Given the description of an element on the screen output the (x, y) to click on. 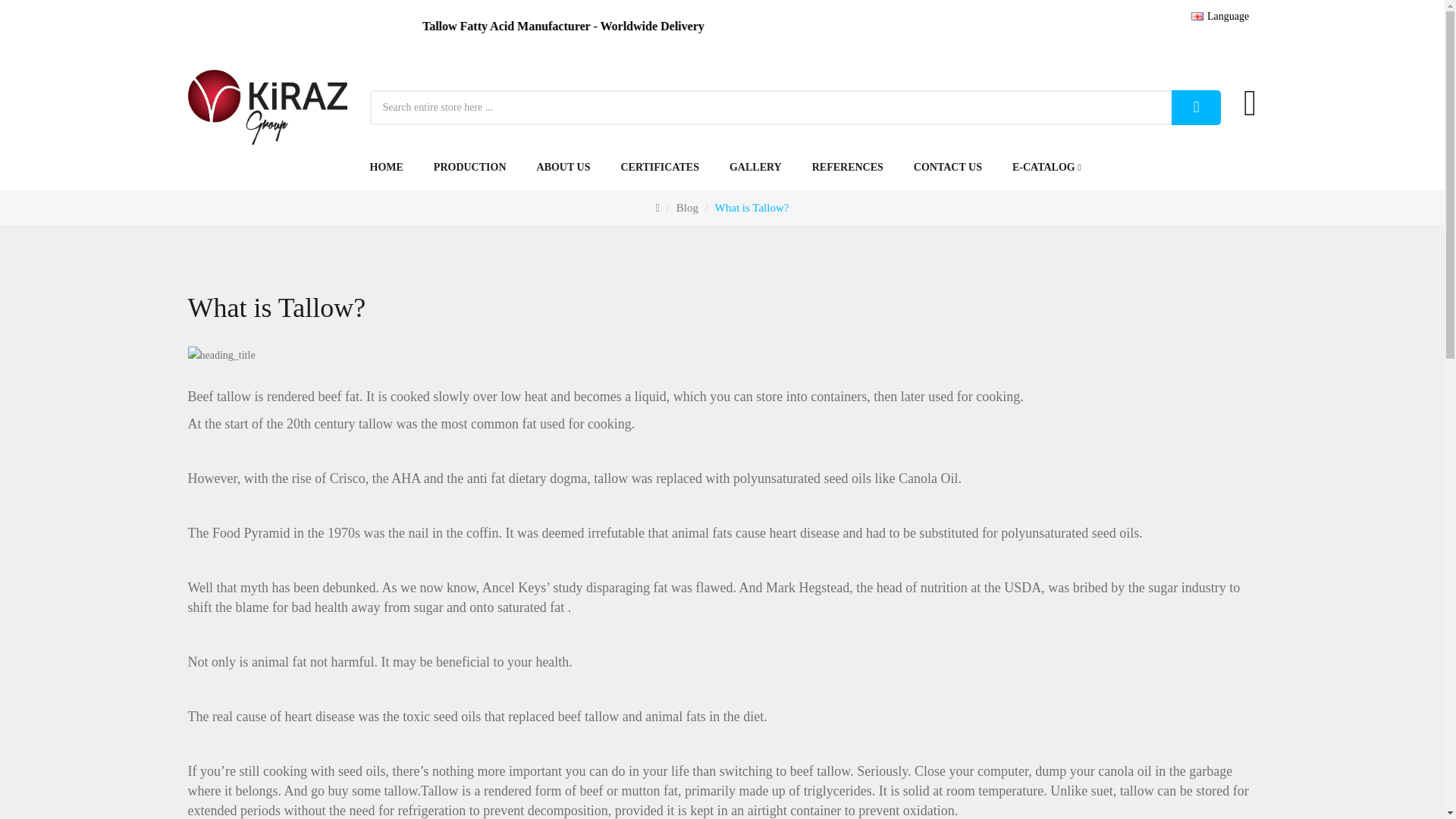
REFERENCES (847, 167)
English (1197, 16)
ABOUT US (563, 167)
Language  (1224, 16)
E-CATALOG (1046, 167)
GALLERY (755, 167)
HOME (394, 167)
CONTACT US (947, 167)
PRODUCTION (470, 167)
Blog (687, 207)
CERTIFICATES (659, 167)
